Given the description of an element on the screen output the (x, y) to click on. 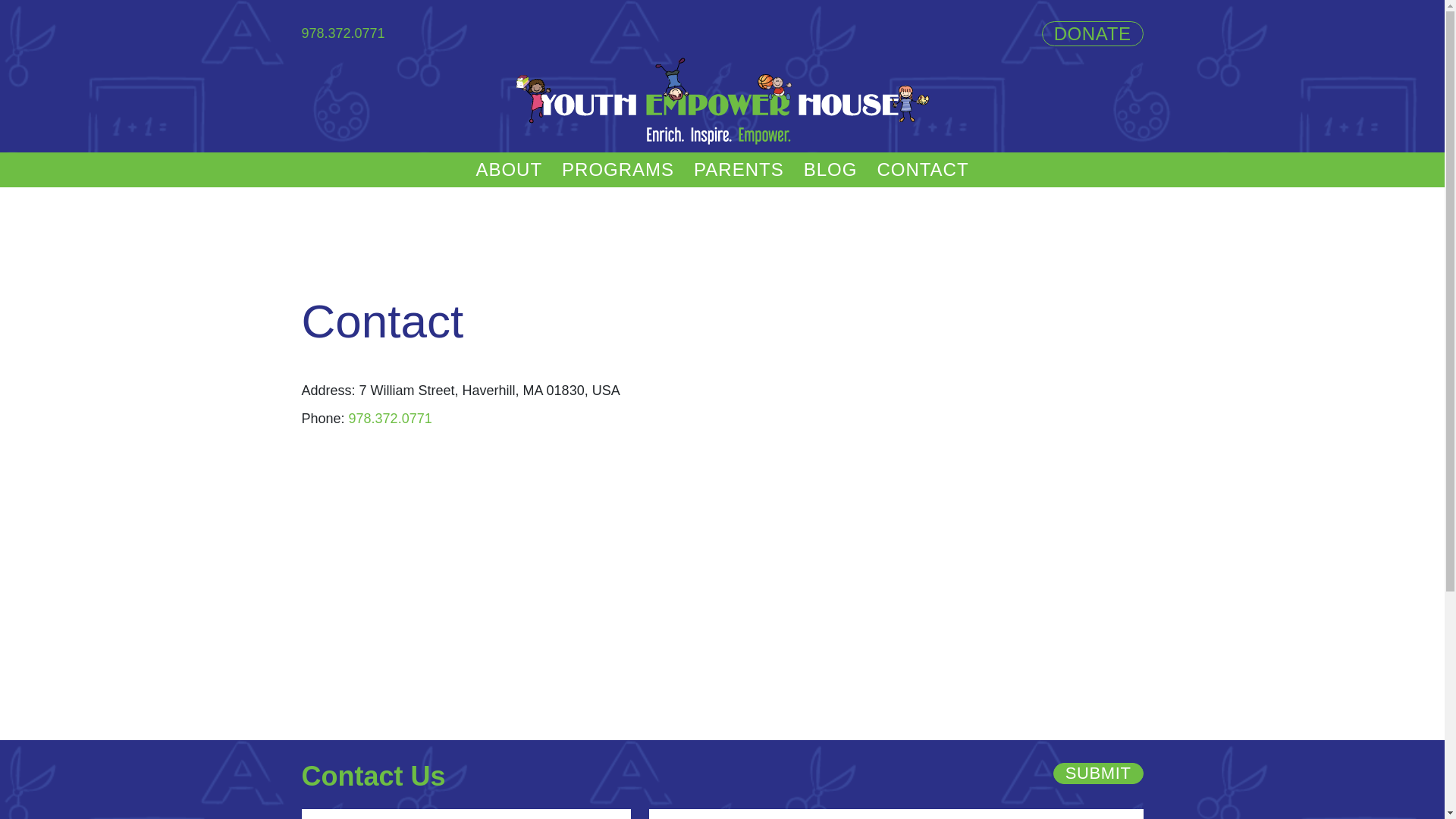
After School Element type: text (667, 200)
BLOG Element type: text (830, 169)
PARENTS Element type: text (738, 169)
Administrative Team Element type: text (581, 200)
PROGRAMS Element type: text (617, 169)
Submit Element type: text (1098, 773)
Why Choose Youth EmpowerHouse? Element type: text (799, 209)
ABOUT Element type: text (508, 169)
CONTACT Element type: text (922, 169)
978.372.0771 Element type: text (390, 418)
Parent Information Element type: text (799, 200)
978.372.0771 Element type: text (343, 33)
DONATE Element type: text (1092, 33)
